Given the description of an element on the screen output the (x, y) to click on. 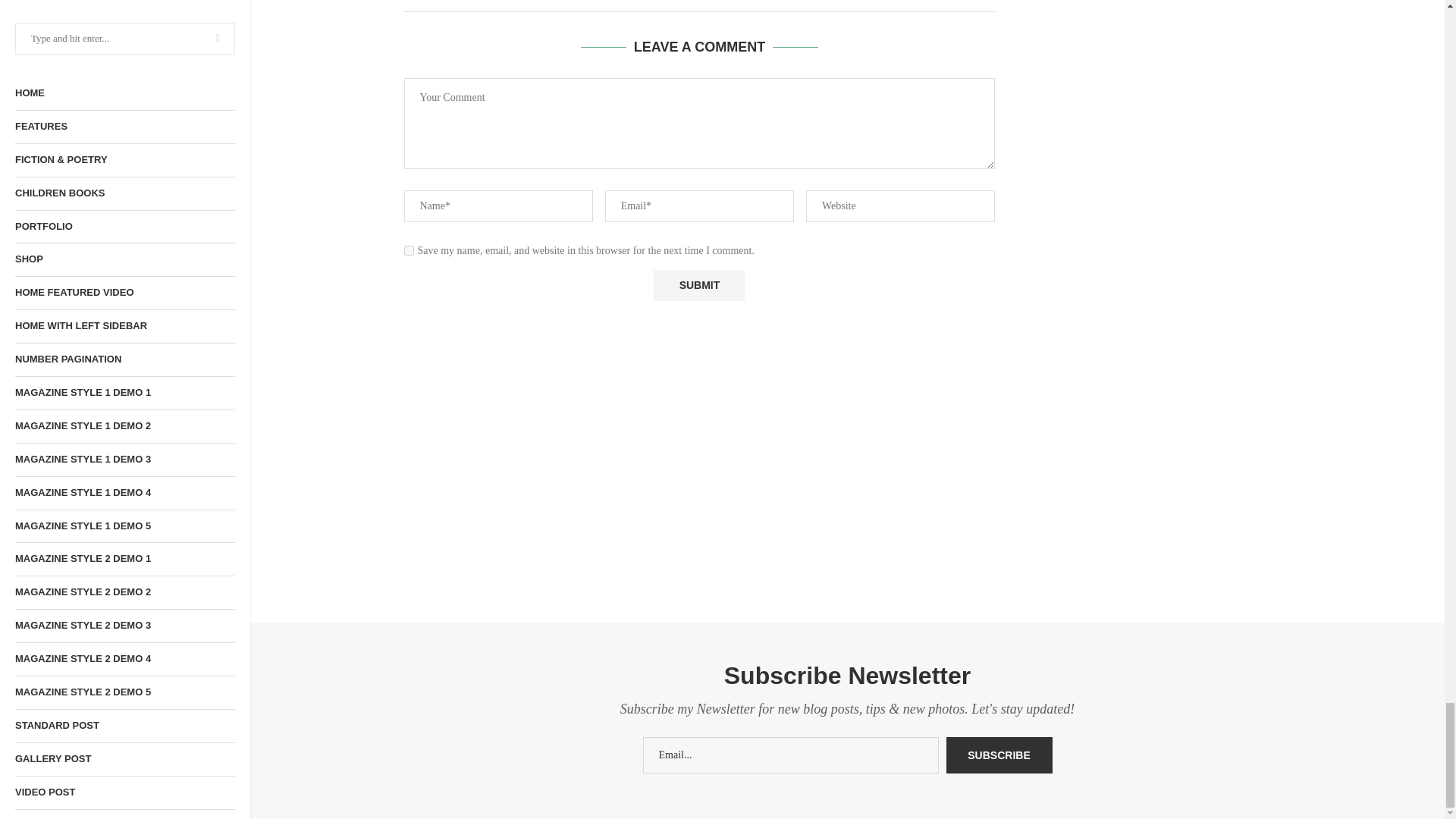
Subscribe (999, 755)
yes (408, 250)
Submit (698, 285)
